Given the description of an element on the screen output the (x, y) to click on. 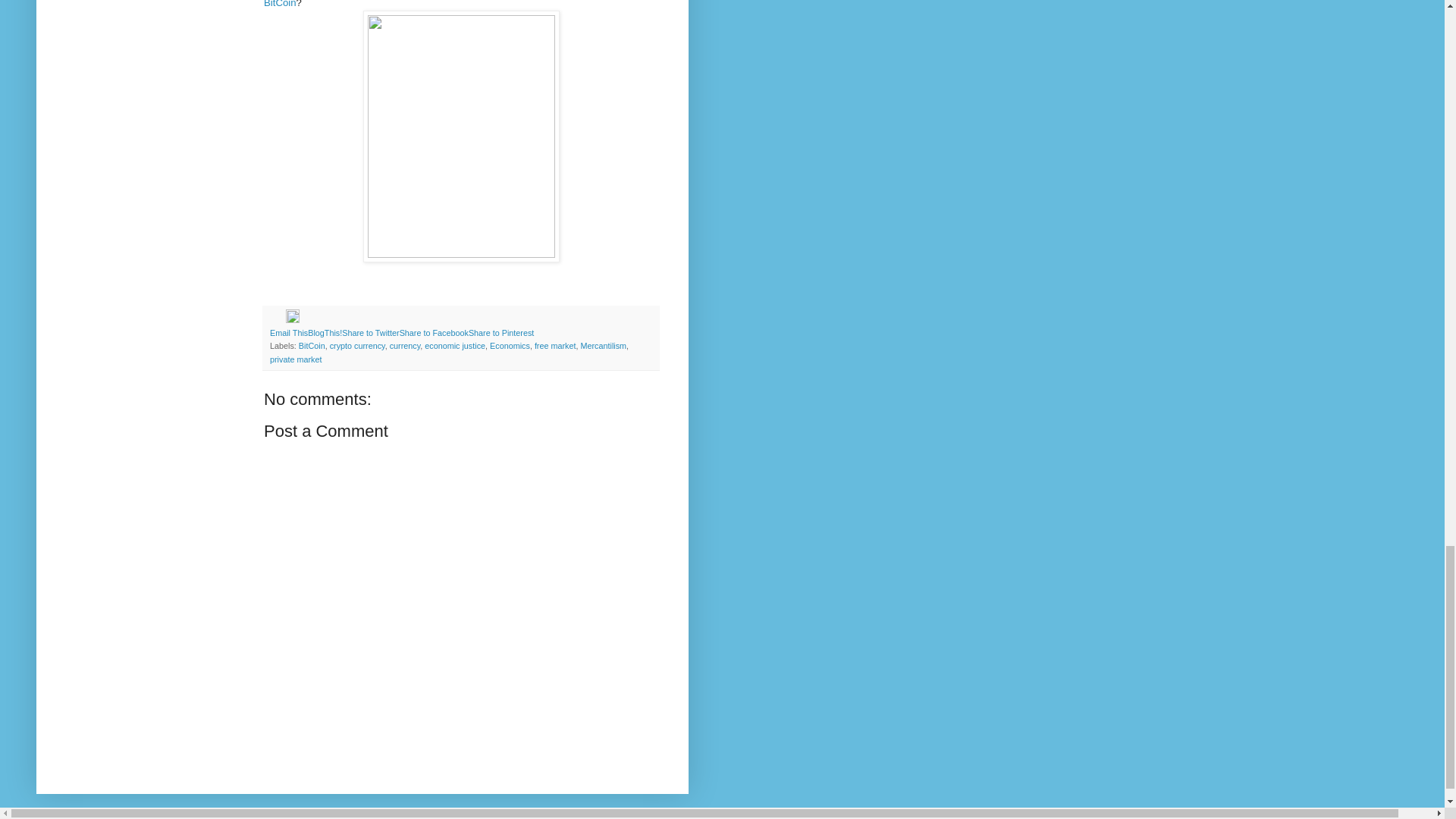
Share to Pinterest (501, 332)
BitCoin (311, 345)
Email This (288, 332)
economic justice (454, 345)
currency (405, 345)
Share to Twitter (370, 332)
free market (555, 345)
Edit Post (292, 319)
gold or BitCoin (440, 4)
BlogThis! (324, 332)
Mercantilism (602, 345)
Email This (288, 332)
Email Post (277, 319)
Share to Pinterest (501, 332)
Share to Facebook (433, 332)
